Given the description of an element on the screen output the (x, y) to click on. 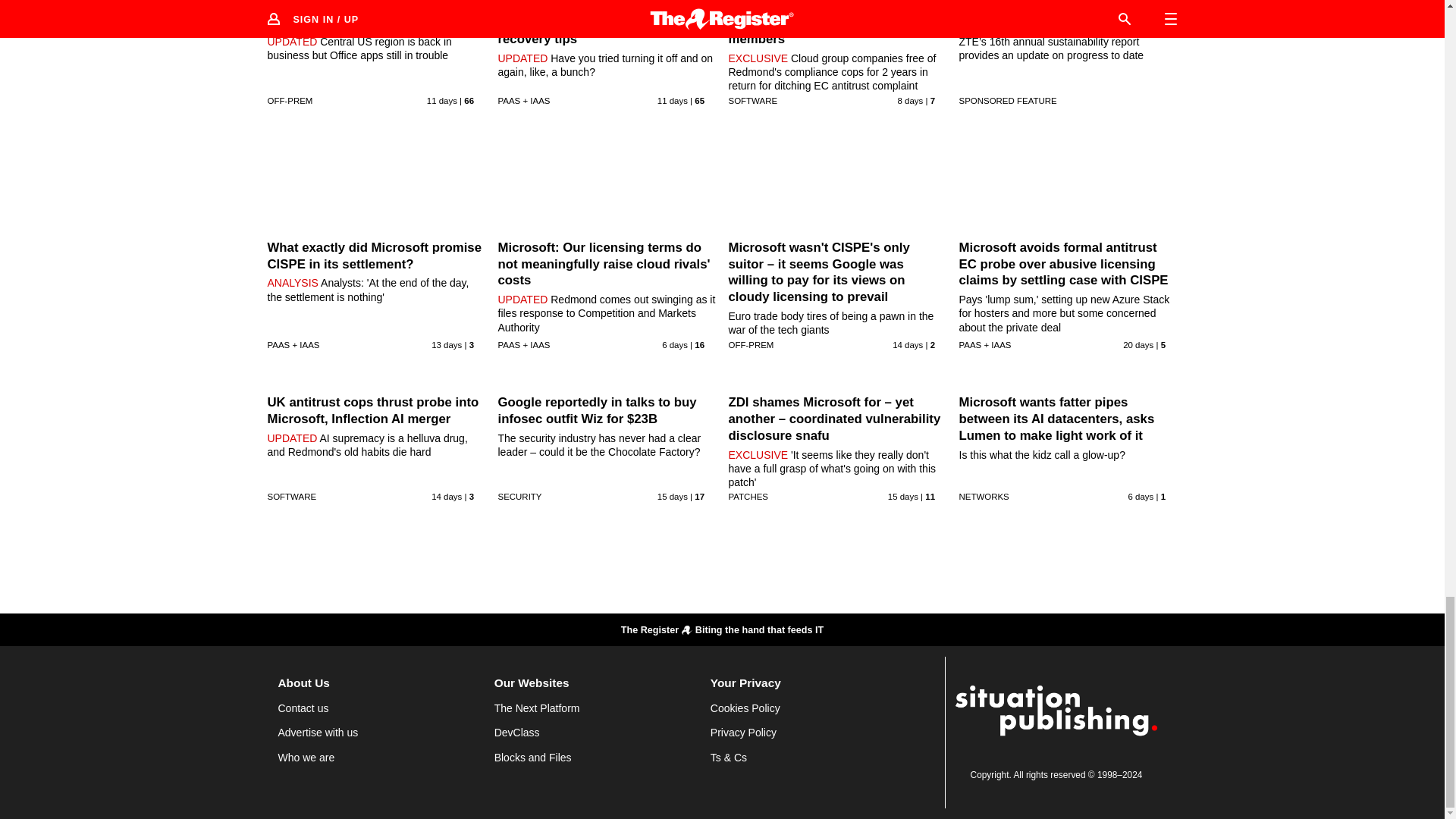
17 Jul 2024 13:42 (445, 344)
24 Jul 2024 11:34 (674, 344)
16 Jul 2024 15:0 (445, 496)
19 Jul 2024 2:2 (441, 100)
19 Jul 2024 12:47 (672, 100)
15 Jul 2024 4:39 (672, 496)
16 Jul 2024 4:1 (907, 344)
22 Jul 2024 9:34 (910, 100)
10 Jul 2024 15:21 (1137, 344)
